Given the description of an element on the screen output the (x, y) to click on. 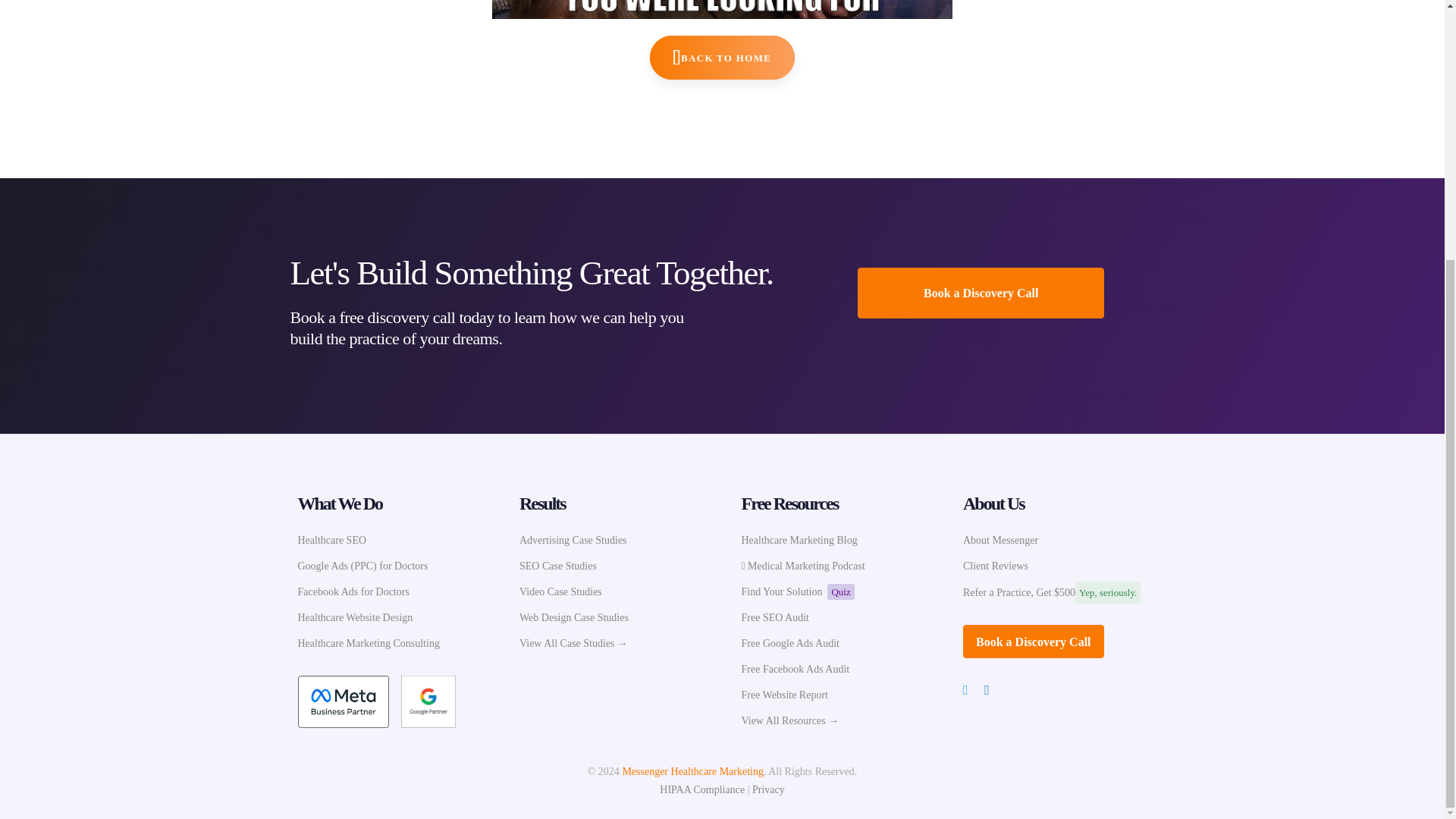
Messenger Healthcare Marketing is a certified Google Partner (428, 701)
BACK TO HOME (721, 57)
